Given the description of an element on the screen output the (x, y) to click on. 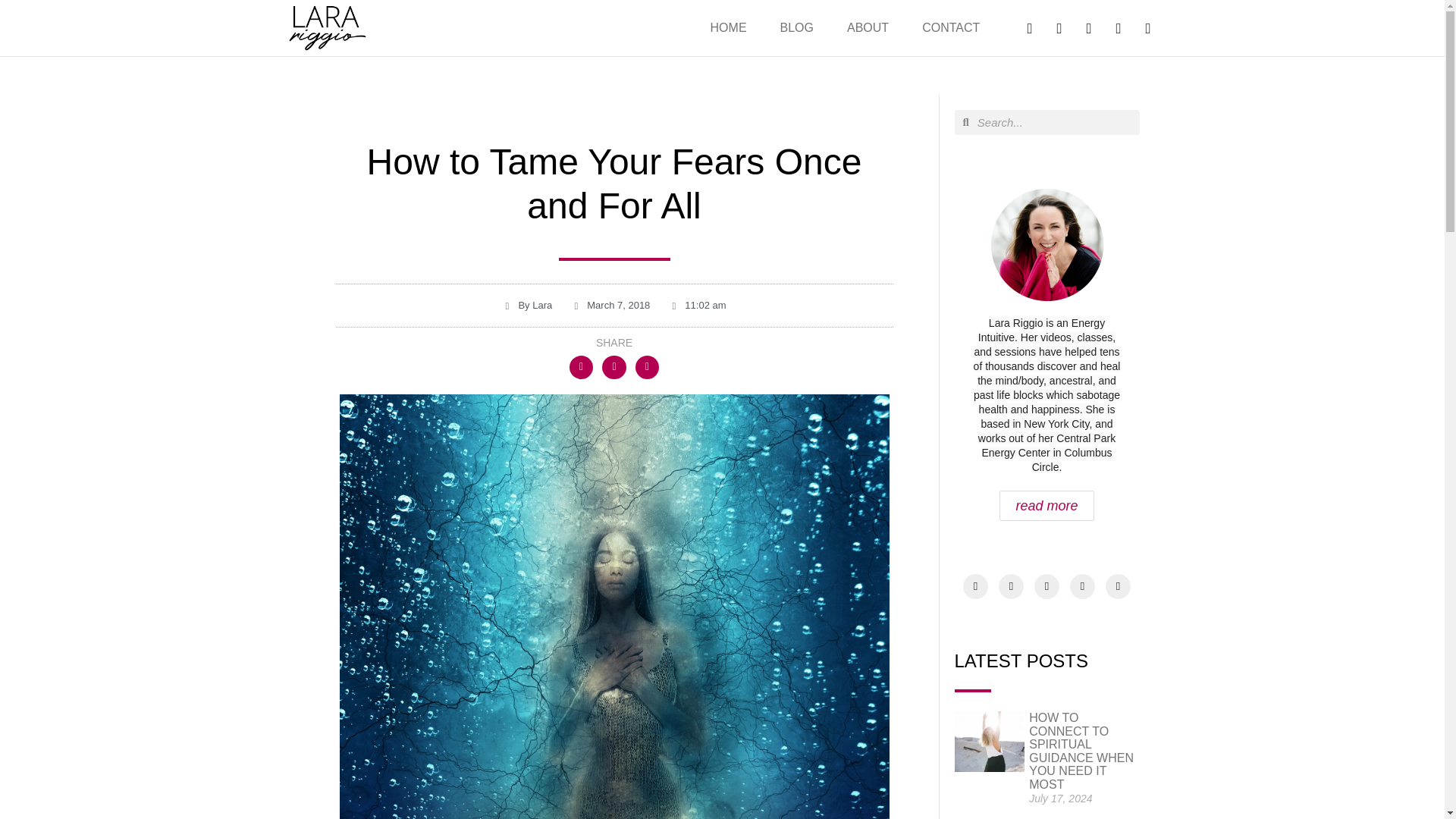
HOME (728, 27)
ABOUT (867, 27)
CONTACT (950, 27)
By Lara (526, 305)
read more (1045, 505)
HOW TO CONNECT TO SPIRITUAL GUIDANCE WHEN YOU NEED IT MOST (1081, 751)
March 7, 2018 (609, 305)
BLOG (796, 27)
